Given the description of an element on the screen output the (x, y) to click on. 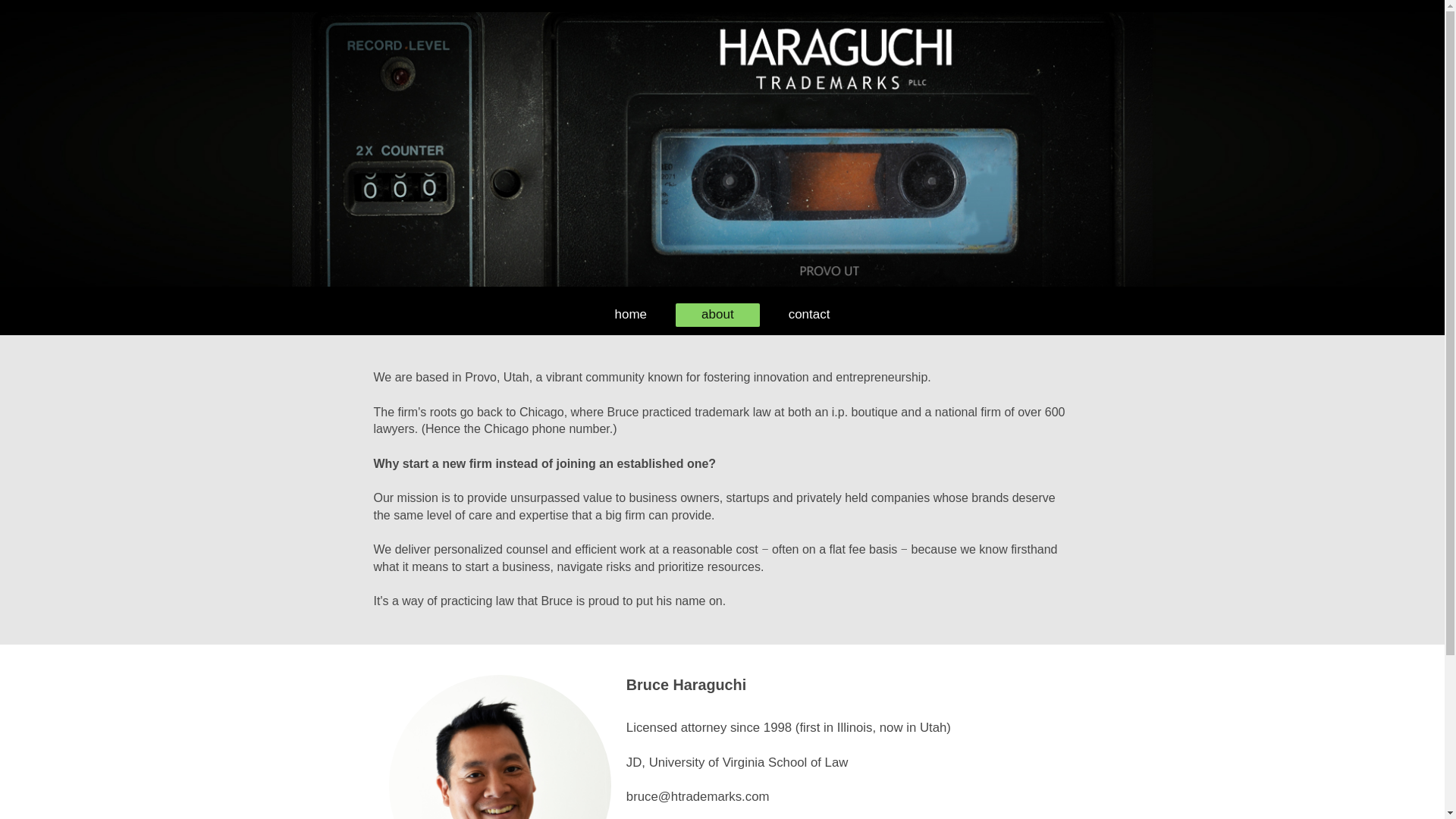
about (717, 314)
contact (809, 314)
home (630, 314)
